Given the description of an element on the screen output the (x, y) to click on. 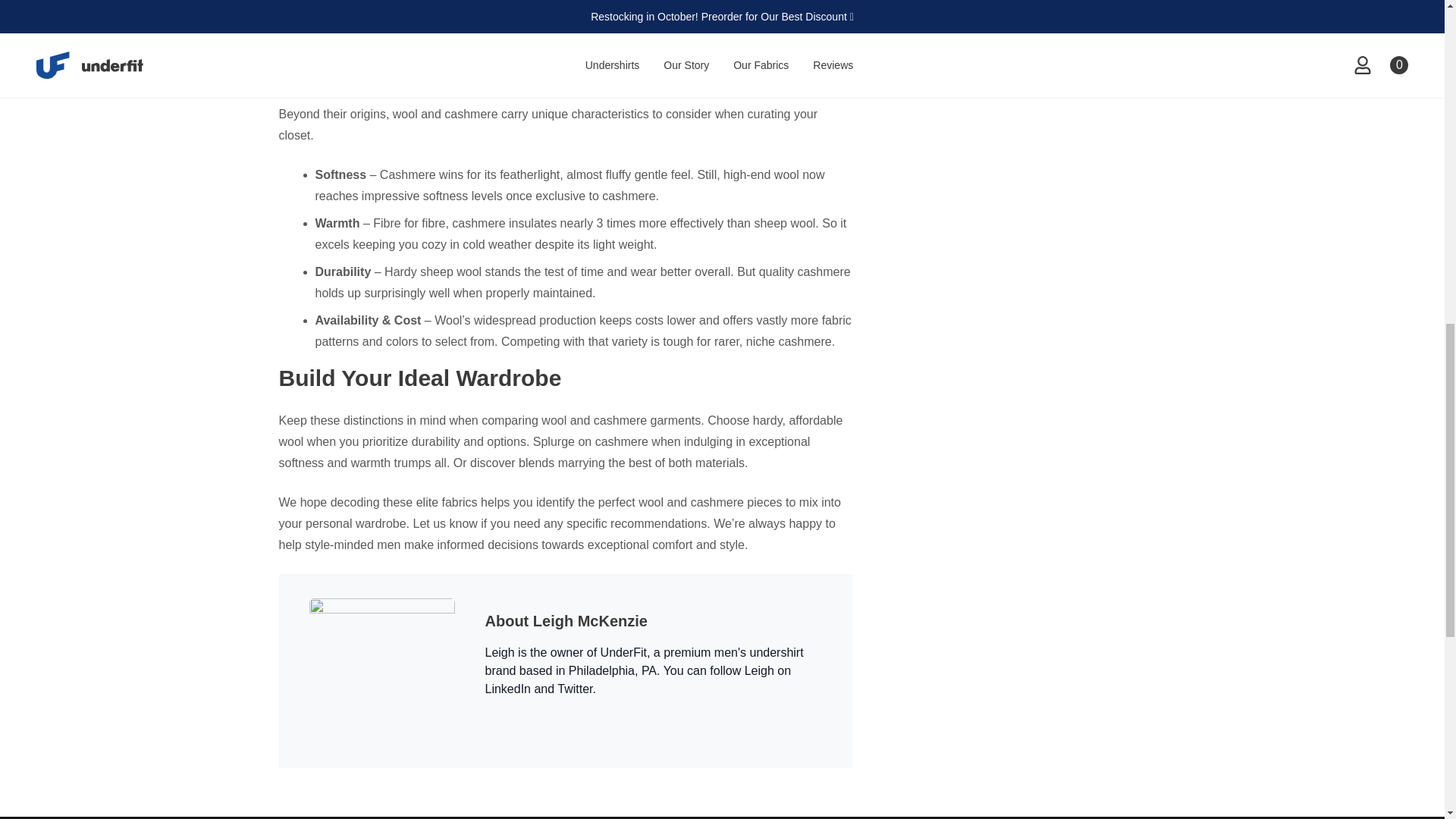
About Leigh McKenzie (565, 620)
Twitter (574, 688)
LinkedIn (507, 688)
